Given the description of an element on the screen output the (x, y) to click on. 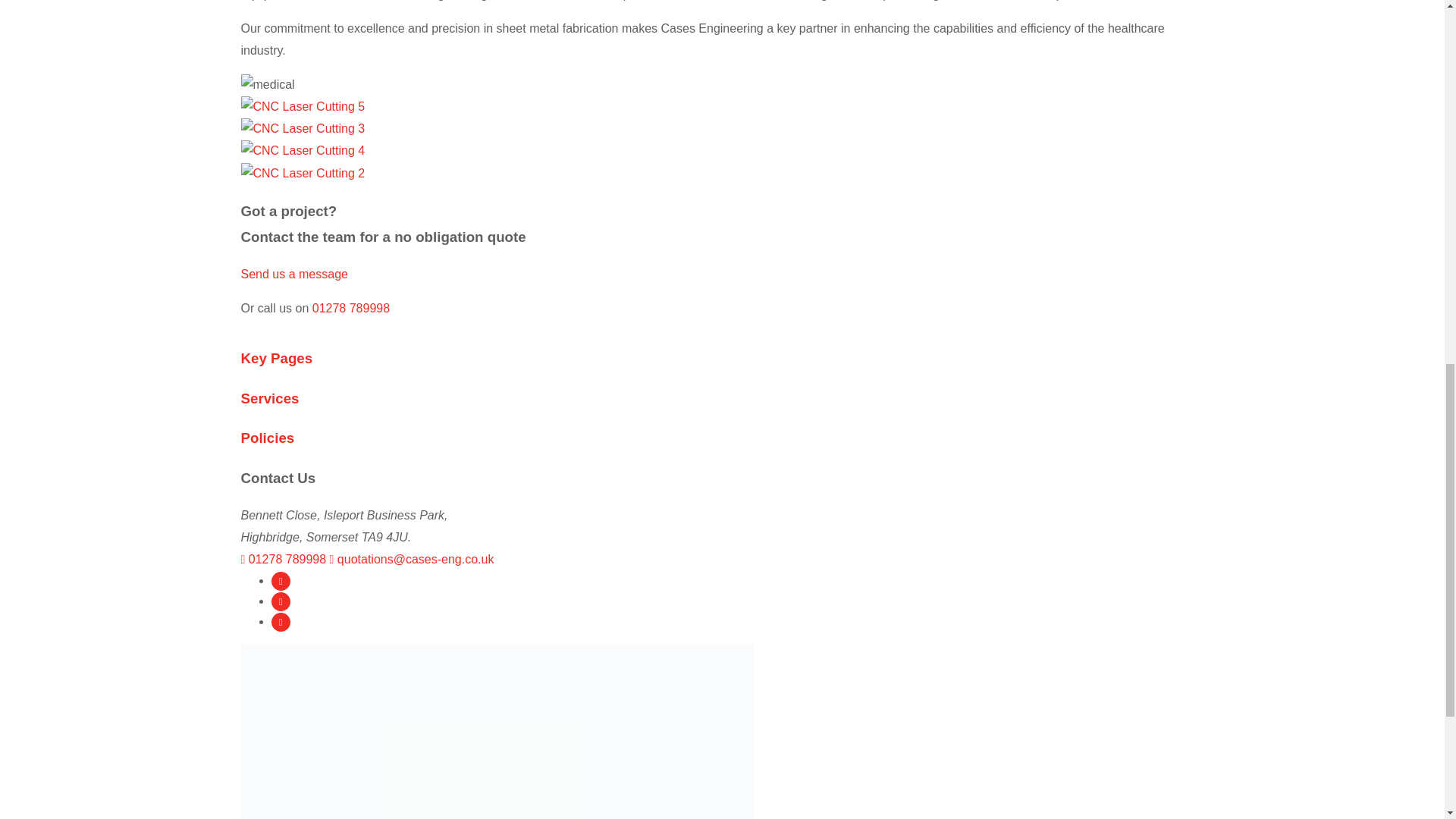
Send us a message (294, 273)
01278 789998 (351, 308)
Services (270, 398)
Key Pages (277, 358)
